Given the description of an element on the screen output the (x, y) to click on. 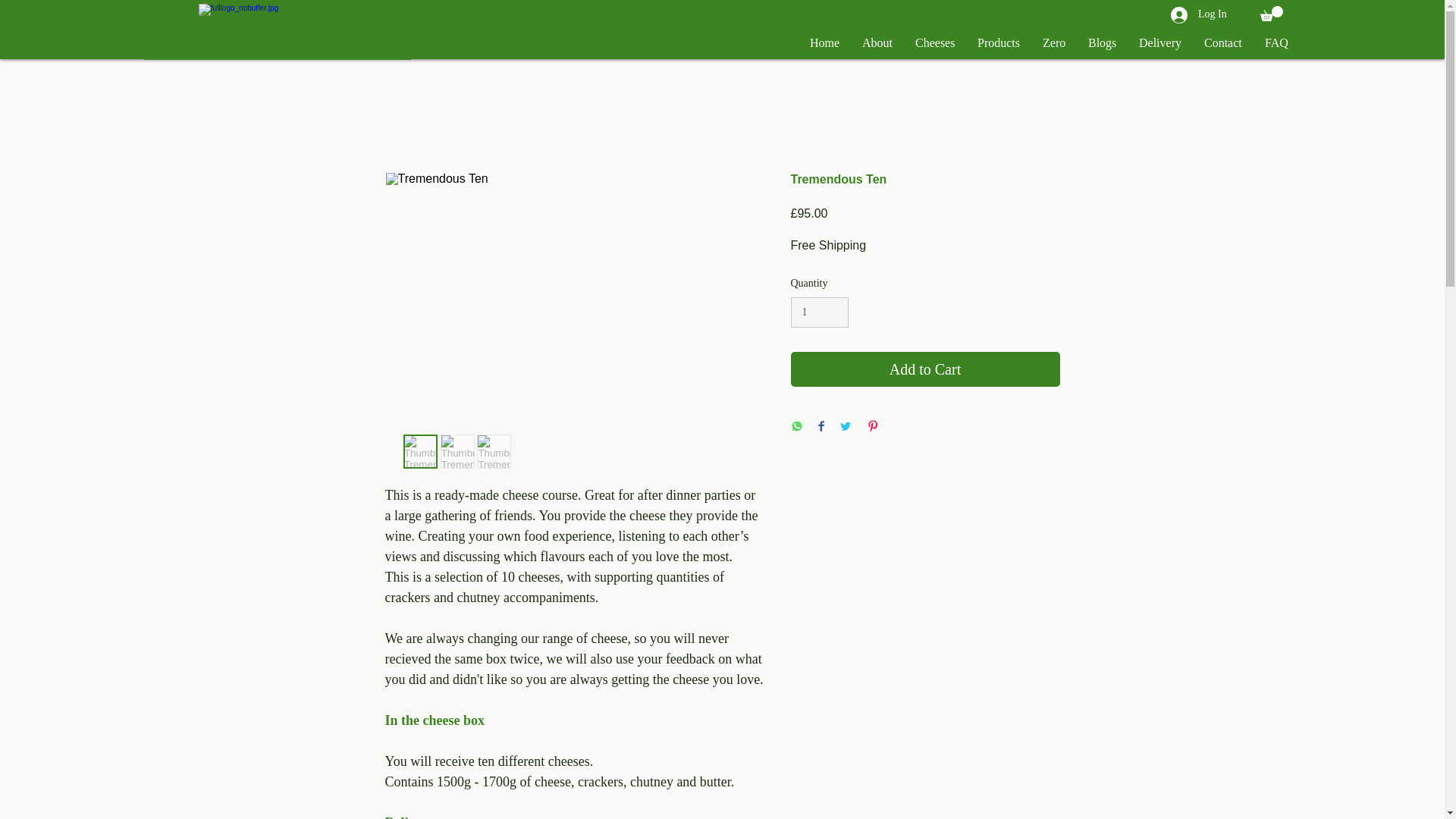
Home (823, 42)
1 (818, 312)
Log In (1198, 14)
Add to Cart (924, 369)
Products (998, 42)
FAQ (1276, 42)
Cheeses (935, 42)
Delivery (1159, 42)
Blogs (1101, 42)
Contact (1222, 42)
